Given the description of an element on the screen output the (x, y) to click on. 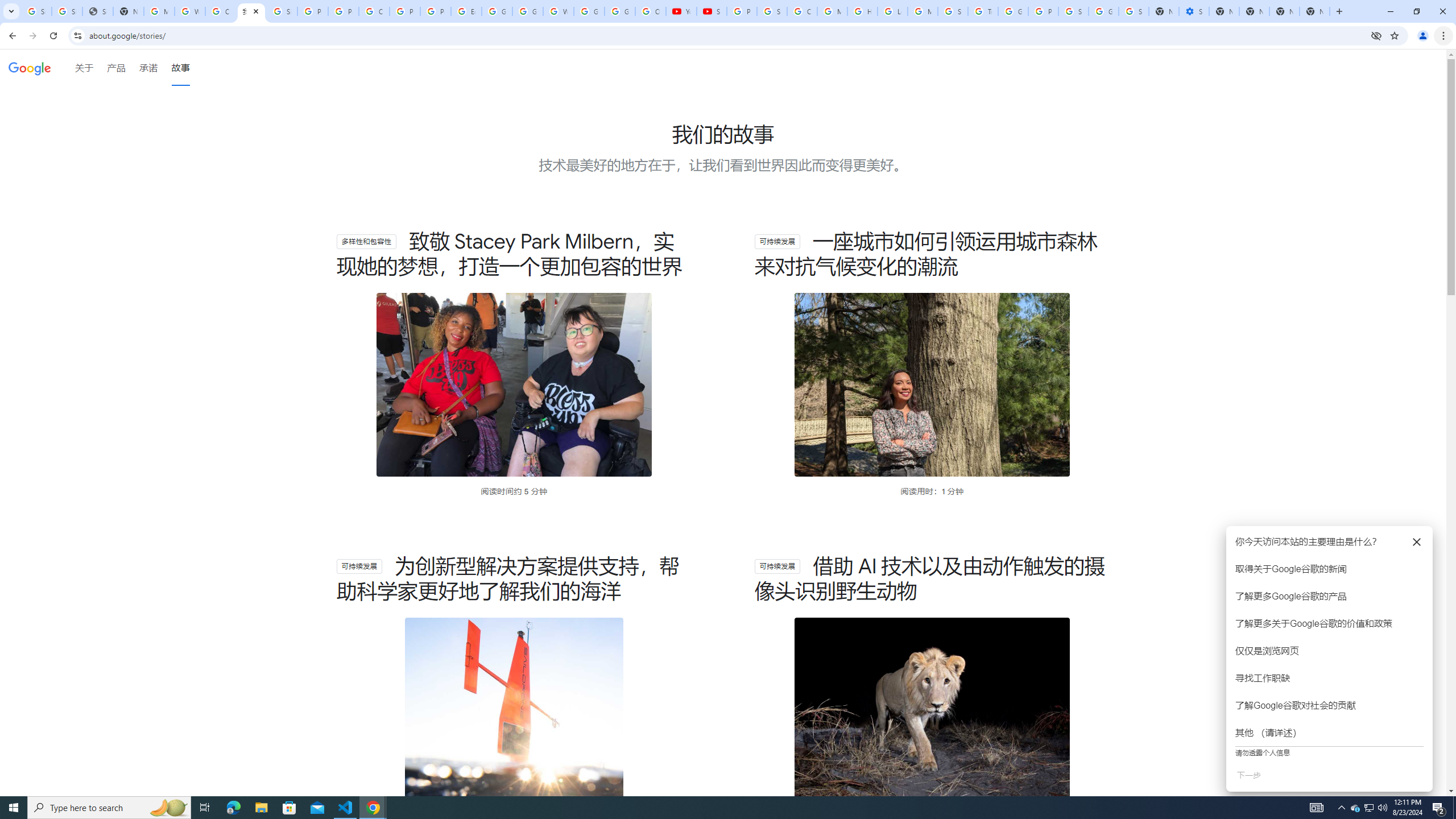
Trusted Information and Content - Google Safety Center (982, 11)
Sign in - Google Accounts (1133, 11)
Sign in - Google Accounts (66, 11)
